Given the description of an element on the screen output the (x, y) to click on. 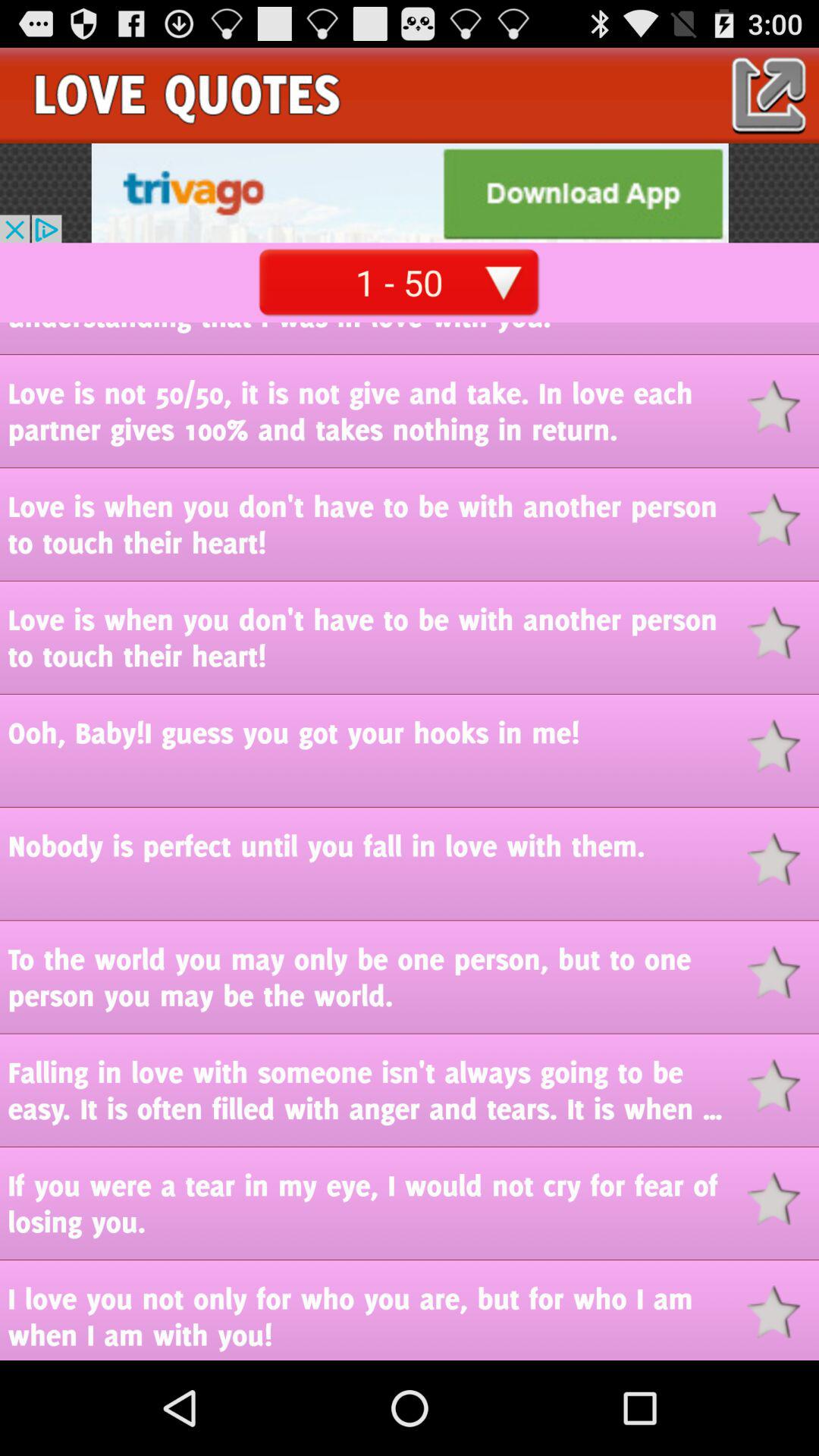
favorite quote (783, 746)
